Given the description of an element on the screen output the (x, y) to click on. 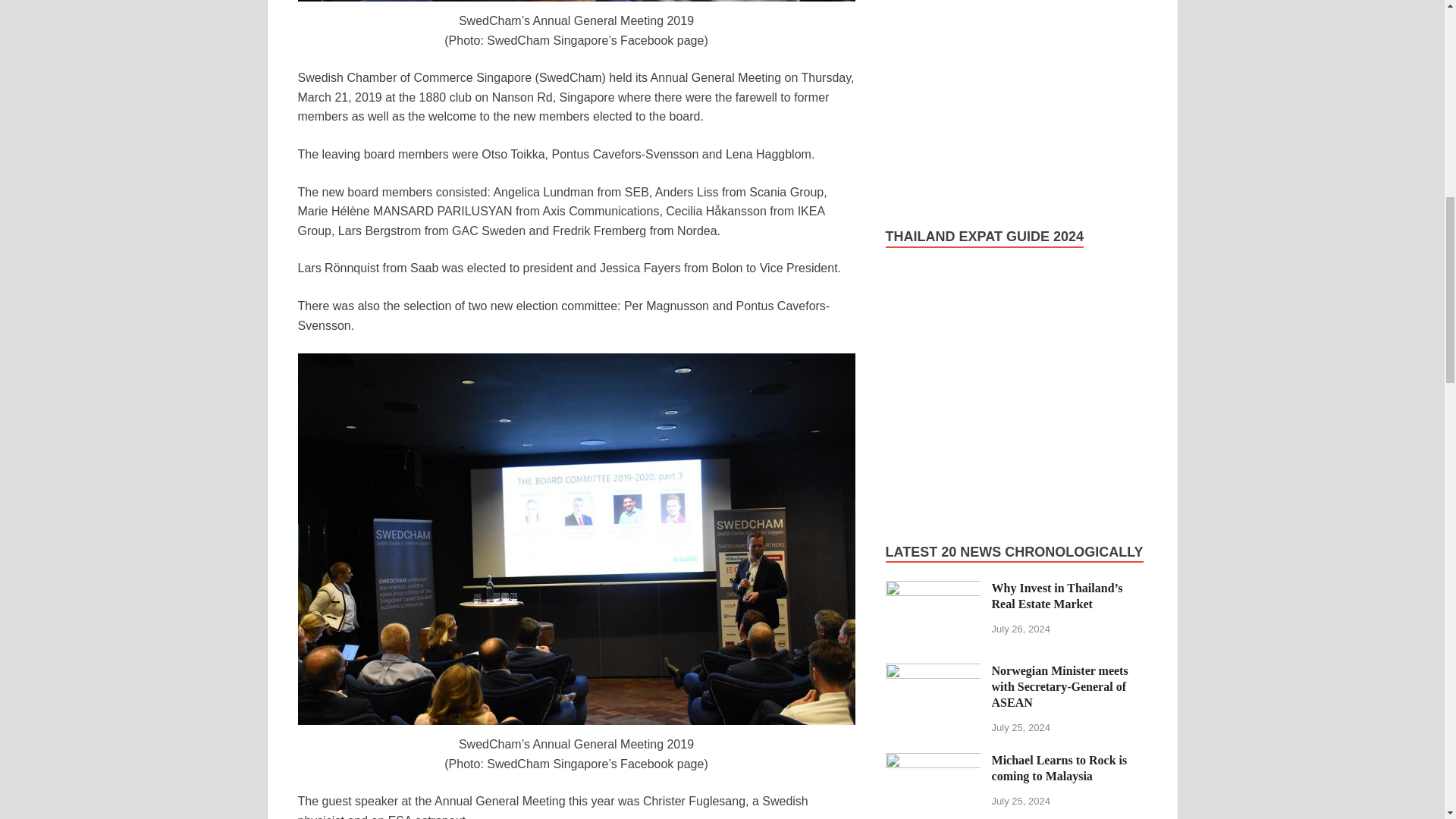
Michael Learns to Rock is coming to Malaysia (932, 761)
Norwegian Minister meets with Secretary-General of ASEAN (932, 671)
